Given the description of an element on the screen output the (x, y) to click on. 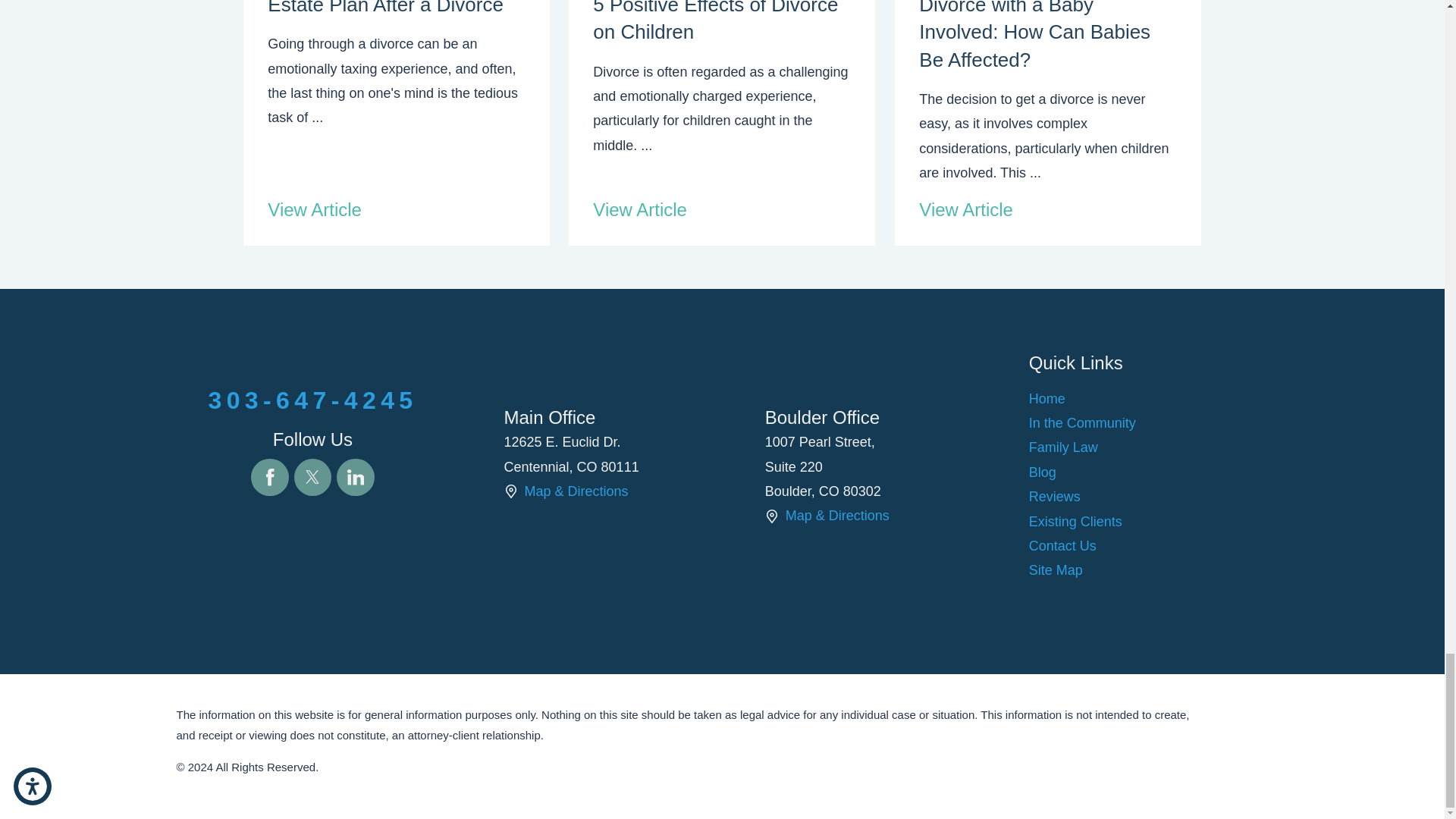
Twitter (312, 477)
Facebook (269, 477)
LinkedIn (355, 477)
Site Icon (509, 490)
Site Icon (771, 516)
